Given the description of an element on the screen output the (x, y) to click on. 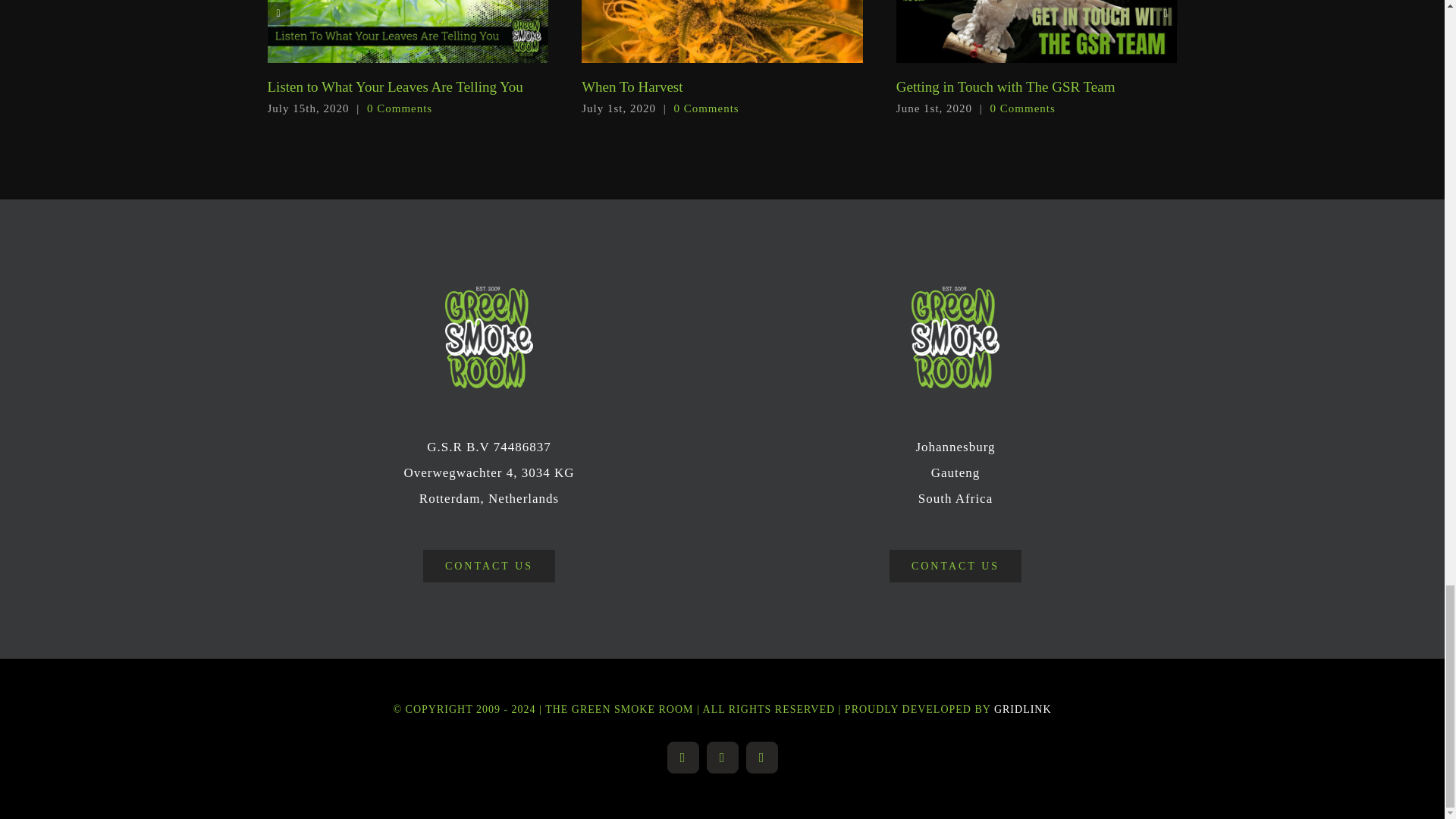
When To Harvest (631, 86)
When To Harvest (631, 86)
0 Comments (399, 108)
Getting in Touch with The GSR Team (1005, 86)
Listen to What Your Leaves Are Telling You (394, 86)
Listen to What Your Leaves Are Telling You (394, 86)
Getting in Touch with The GSR Team (1005, 86)
Twitter (682, 757)
0 Comments (705, 108)
